Given the description of an element on the screen output the (x, y) to click on. 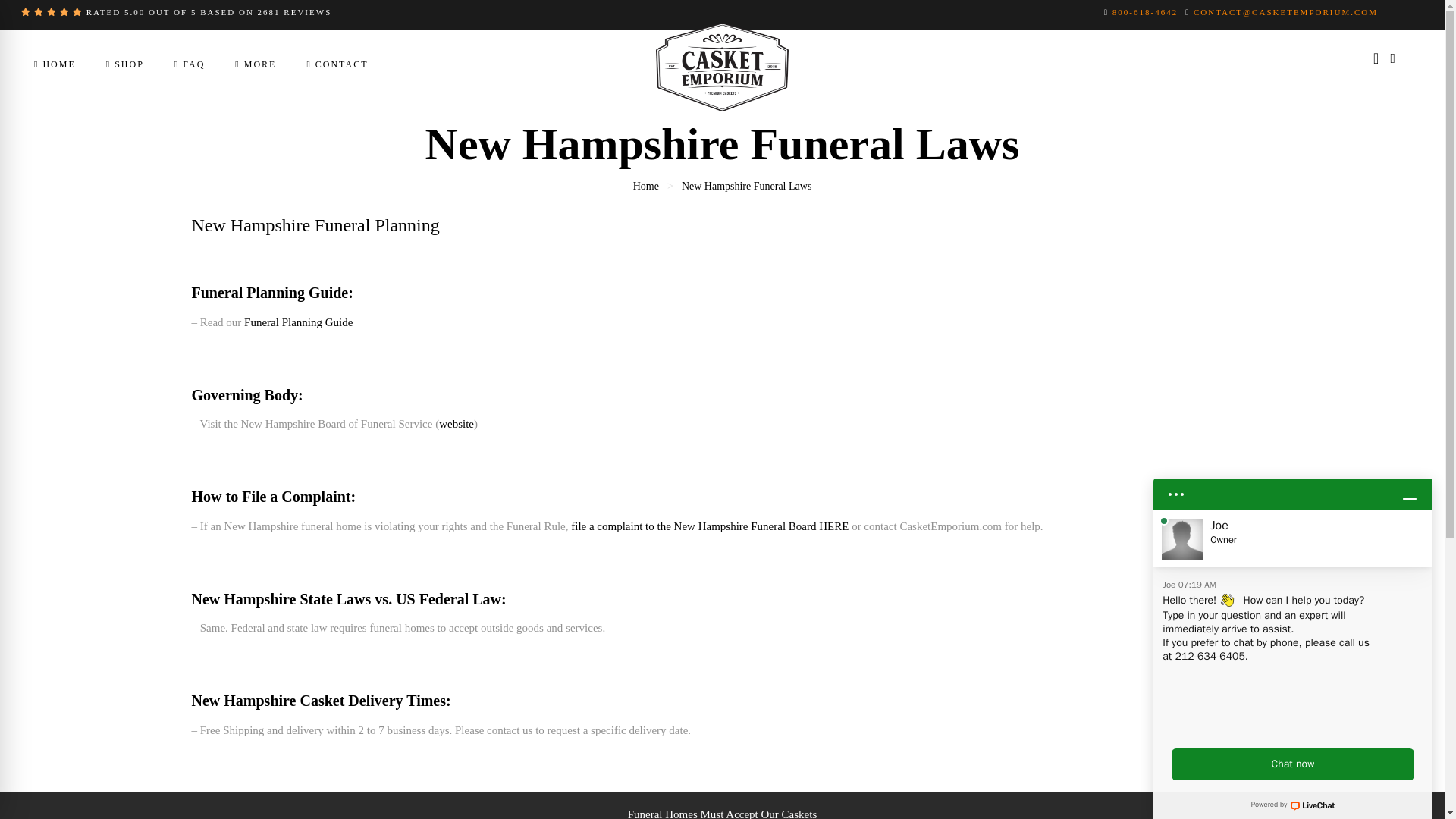
SHOP (125, 63)
MORE (255, 63)
CONTACT (336, 63)
800-618-4642 (1144, 11)
RATED 5.00 OUT OF 5 BASED ON 2681 REVIEWS (176, 11)
HOME (54, 63)
FAQ (189, 63)
